Given the description of an element on the screen output the (x, y) to click on. 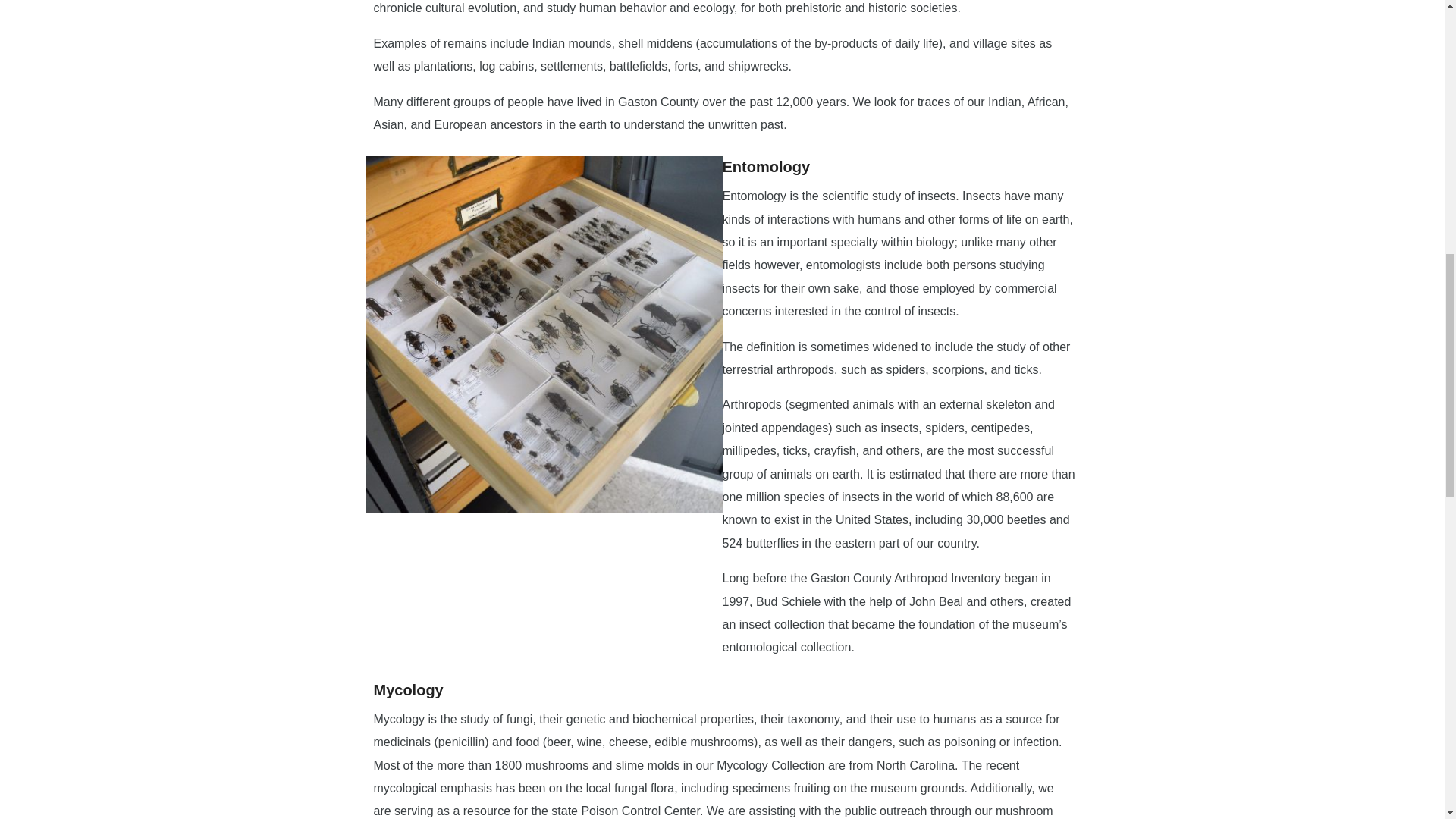
Entomology2 (543, 334)
